Given the description of an element on the screen output the (x, y) to click on. 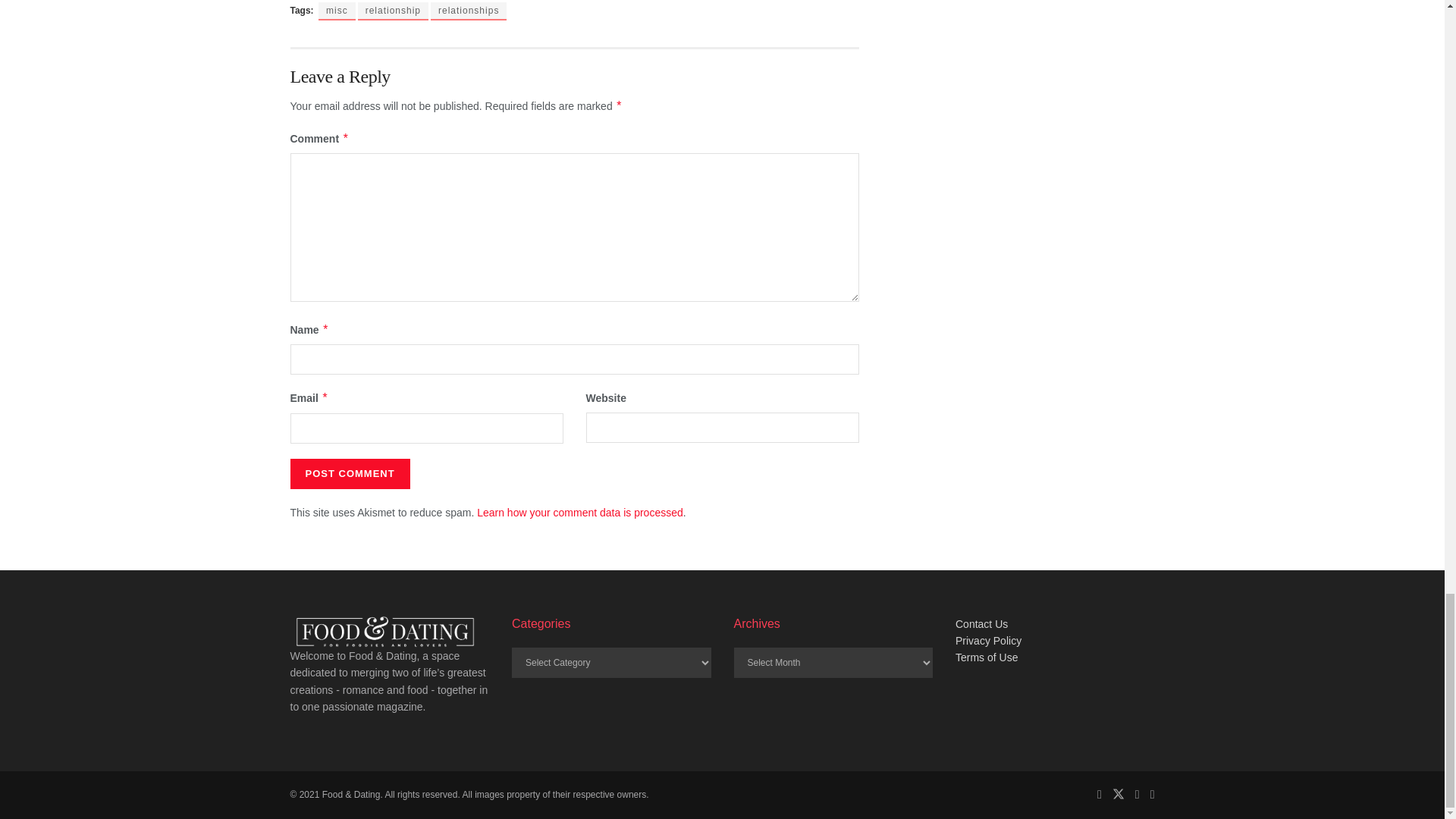
misc (336, 11)
Post Comment (349, 473)
relationship (393, 11)
relationships (468, 11)
Learn how your comment data is processed (579, 512)
Post Comment (349, 473)
